Given the description of an element on the screen output the (x, y) to click on. 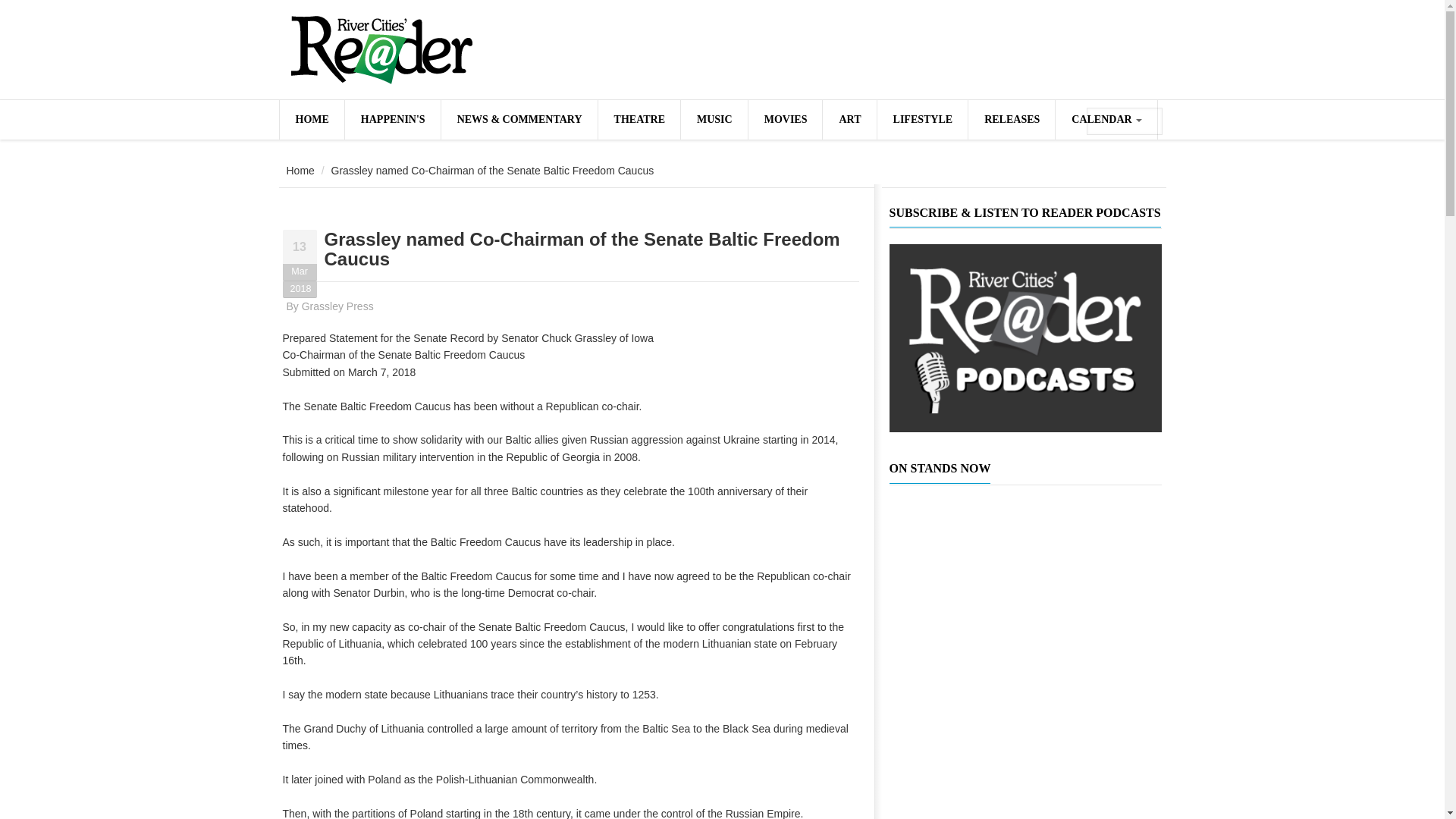
Search (1149, 122)
Home page (311, 119)
MUSIC (714, 119)
HAPPENIN'S (393, 119)
MOVIES (785, 119)
HOME (311, 119)
Music (714, 119)
Movies (785, 119)
Theatre (638, 119)
Calendar (1106, 119)
